Given the description of an element on the screen output the (x, y) to click on. 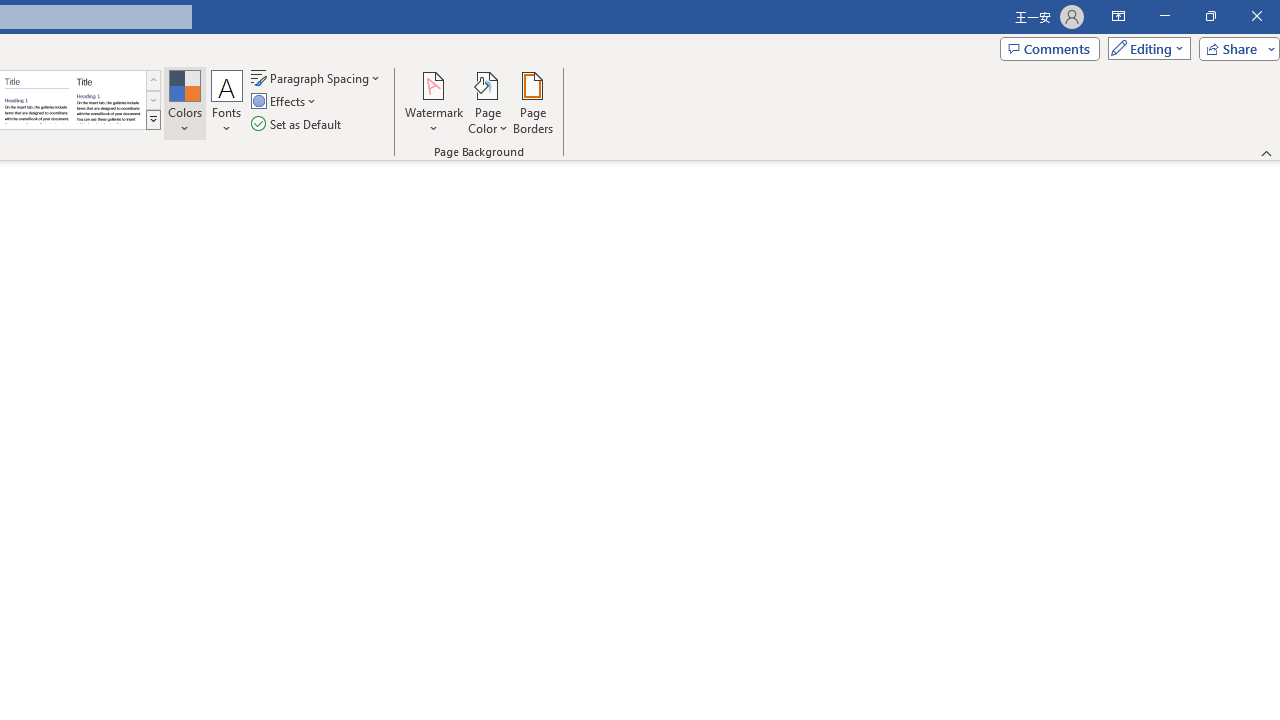
Colors (184, 102)
Page Borders... (532, 102)
Paragraph Spacing (317, 78)
Row Down (153, 100)
Page Color (487, 102)
Set as Default (298, 124)
Editing (1144, 47)
Effects (285, 101)
Word 2013 (108, 100)
